Given the description of an element on the screen output the (x, y) to click on. 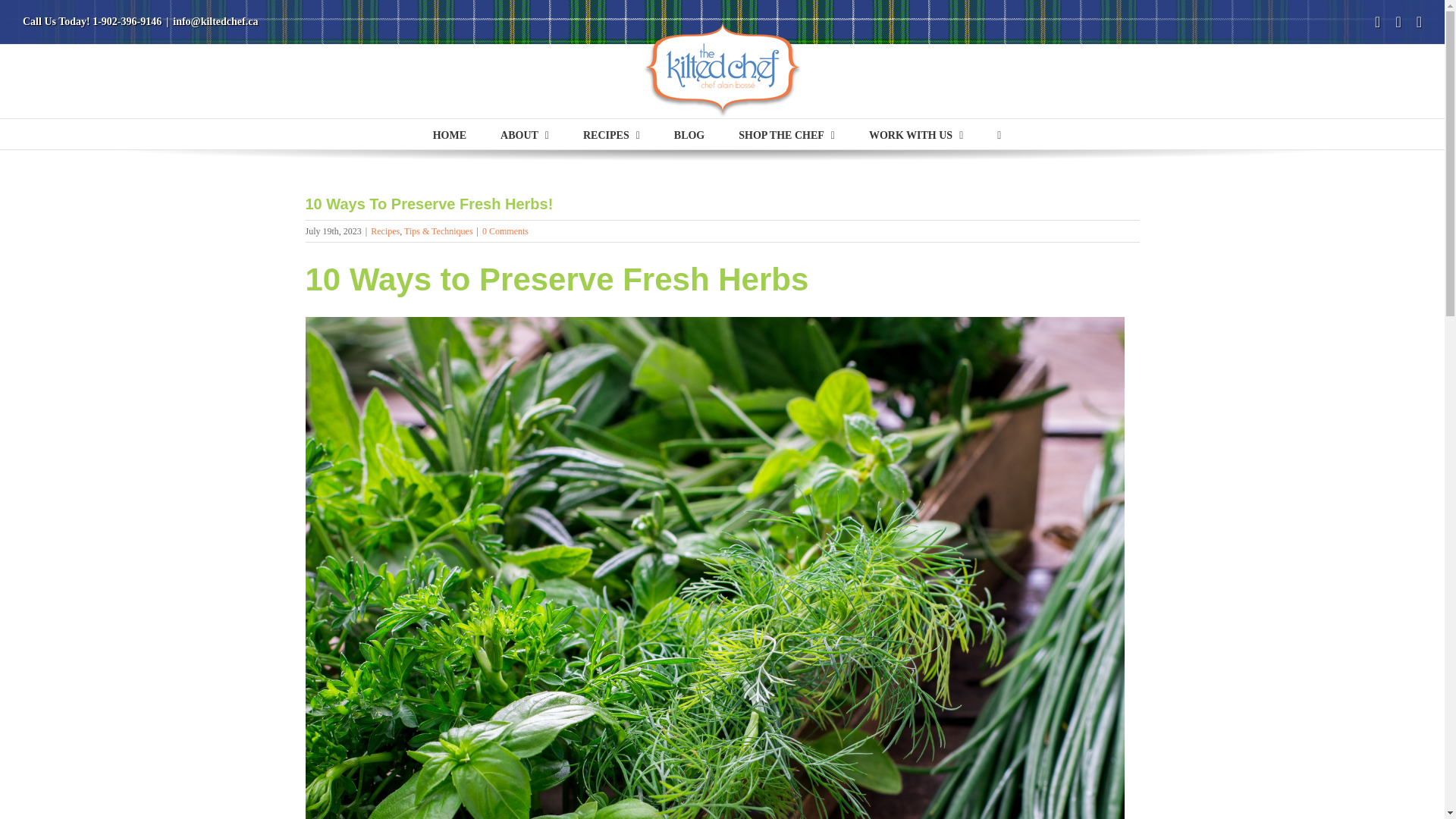
HOME (448, 133)
BLOG (689, 133)
RECIPES (611, 133)
WORK WITH US (915, 133)
SHOP THE CHEF (786, 133)
Recipes (384, 231)
0 Comments (504, 231)
ABOUT (524, 133)
